Given the description of an element on the screen output the (x, y) to click on. 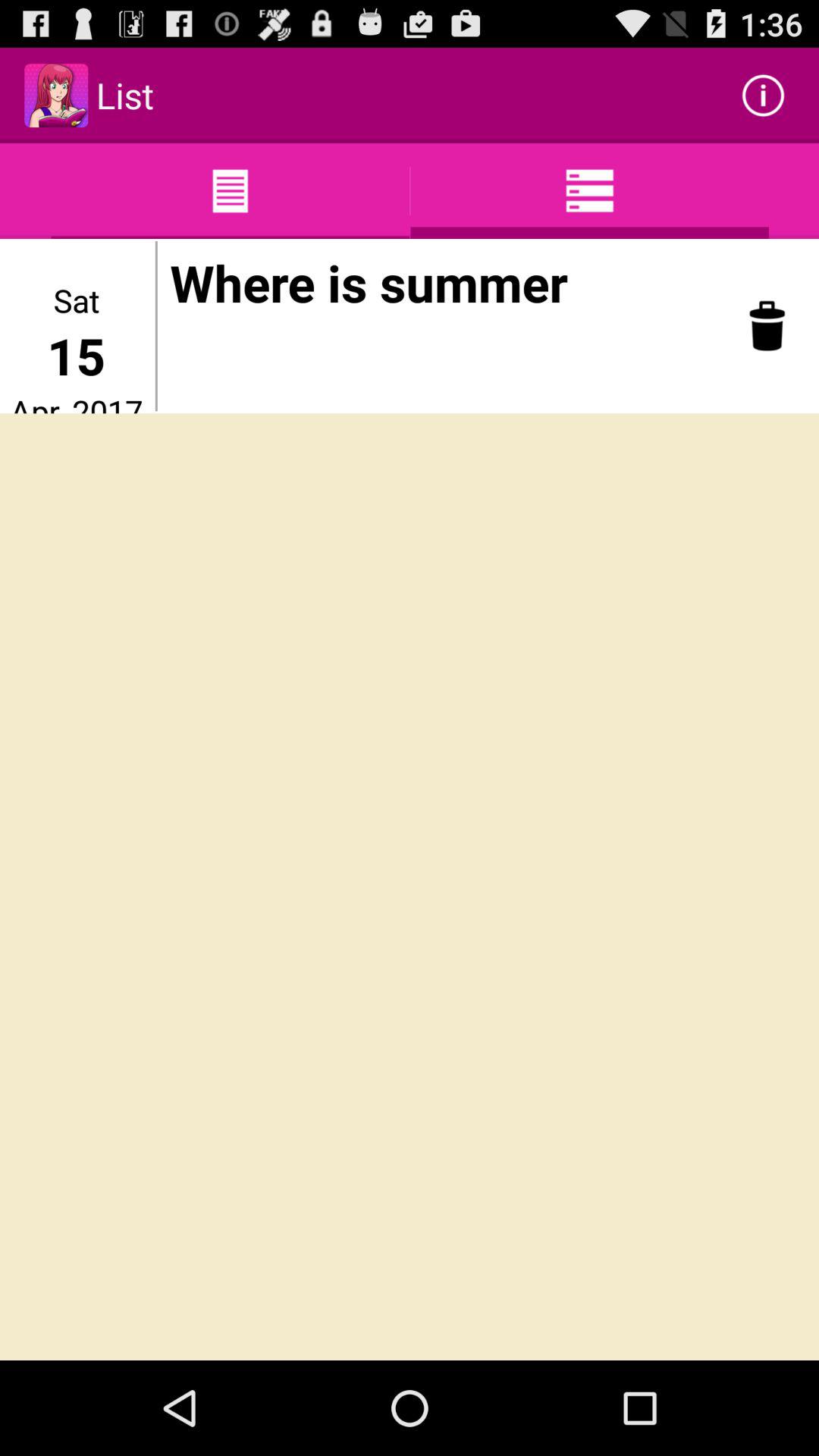
select item below the 15 (76, 401)
